Given the description of an element on the screen output the (x, y) to click on. 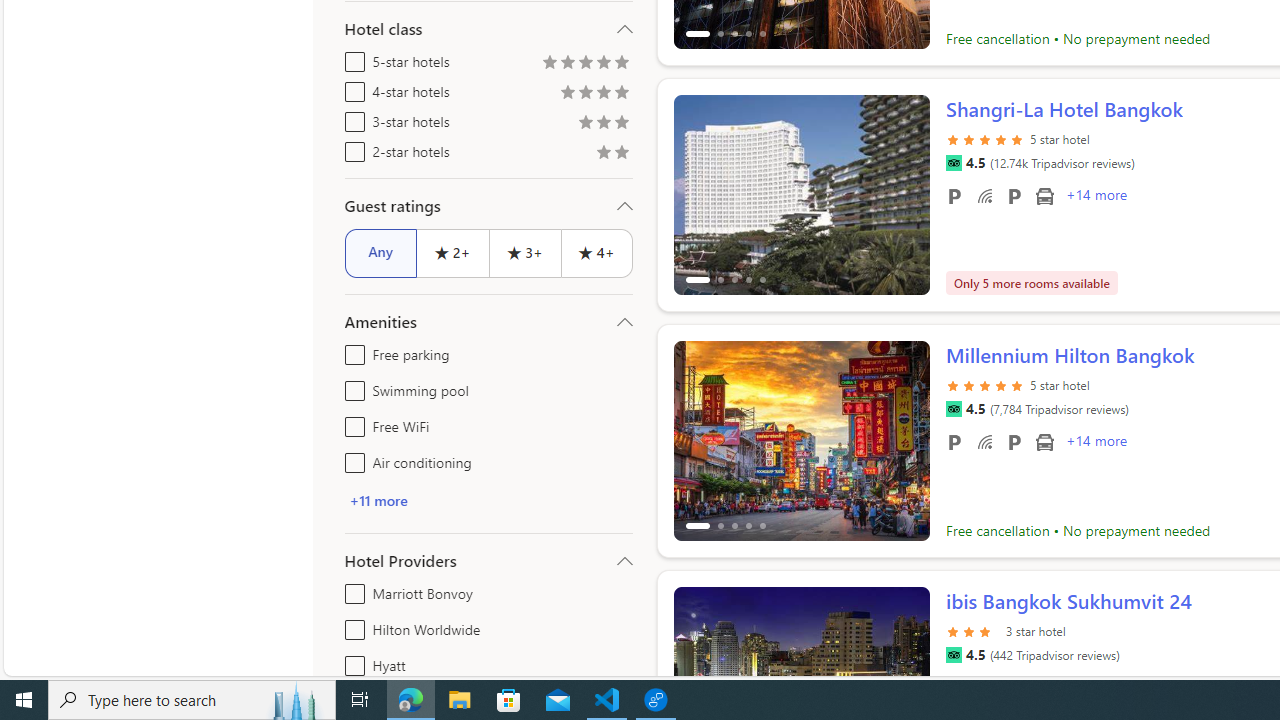
Free WiFi (351, 422)
ScrollRight (905, 678)
3+ (523, 252)
4-star hotels (351, 88)
3-star hotels (351, 118)
Hotel Providers (488, 560)
Hyatt (351, 661)
Tripadvisor (953, 655)
4+ (596, 252)
star rating (973, 630)
2+ (452, 252)
Marriott Bonvoy (351, 589)
Free parking (953, 441)
Amenities (488, 321)
Hilton Worldwide (351, 625)
